Given the description of an element on the screen output the (x, y) to click on. 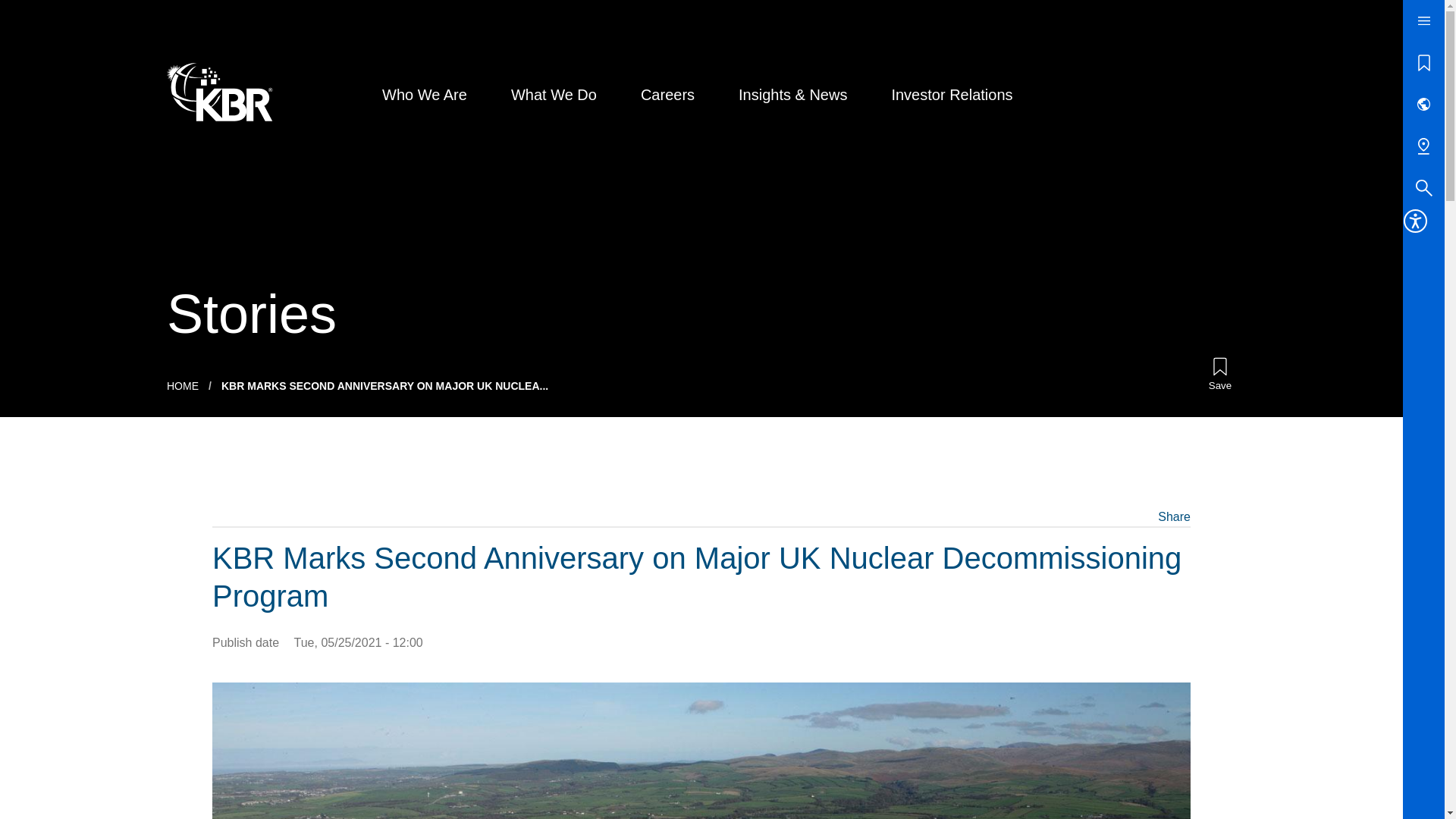
Open primary menu (1423, 20)
Investor Relations (951, 94)
Open language selector (1423, 104)
Open saved content (1423, 62)
Open search (1423, 187)
What We Do (553, 94)
Careers (667, 94)
Open secondary menu (1423, 146)
HOME (182, 386)
Who We Are (424, 94)
